Given the description of an element on the screen output the (x, y) to click on. 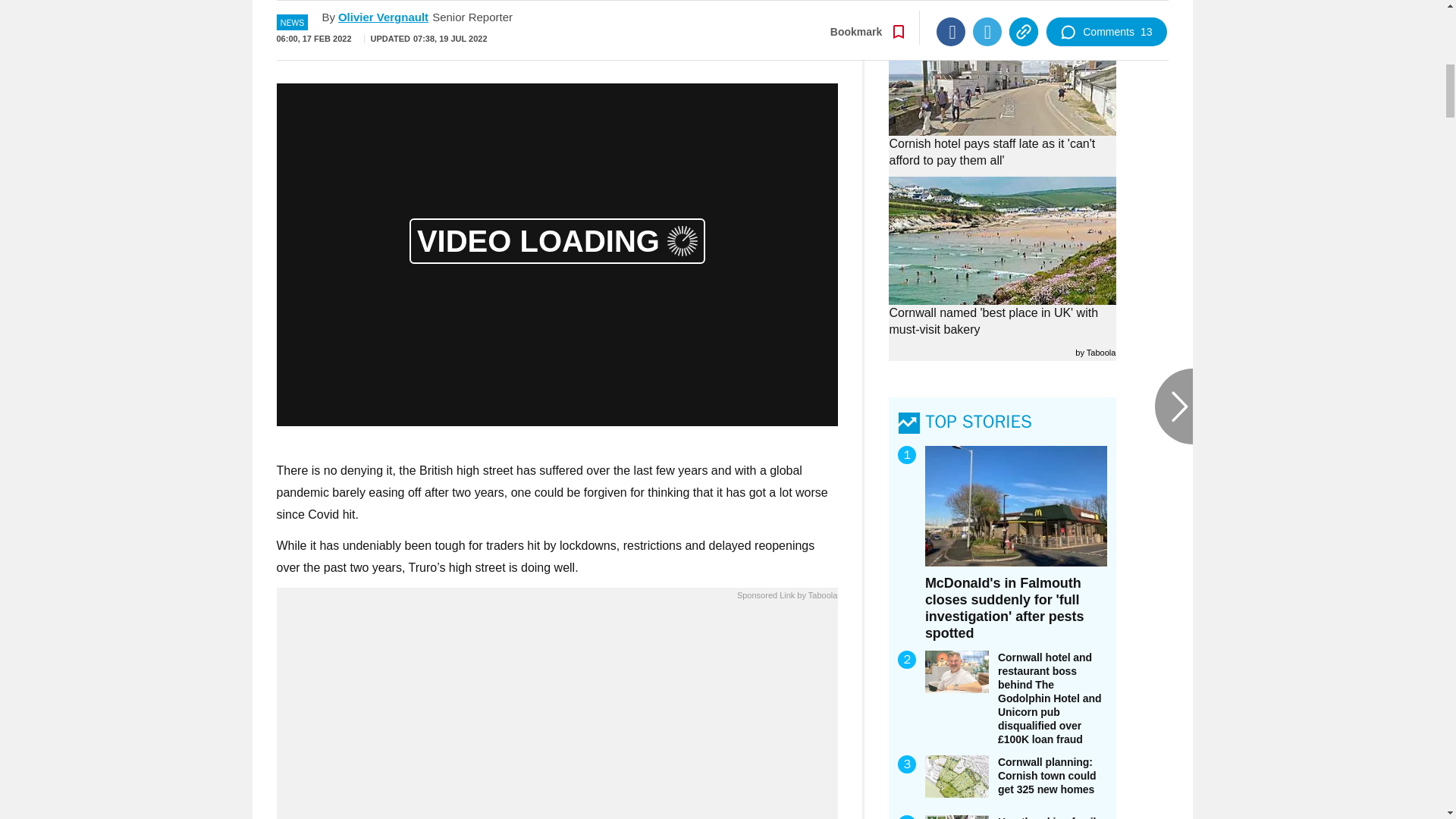
Go (730, 34)
